Given the description of an element on the screen output the (x, y) to click on. 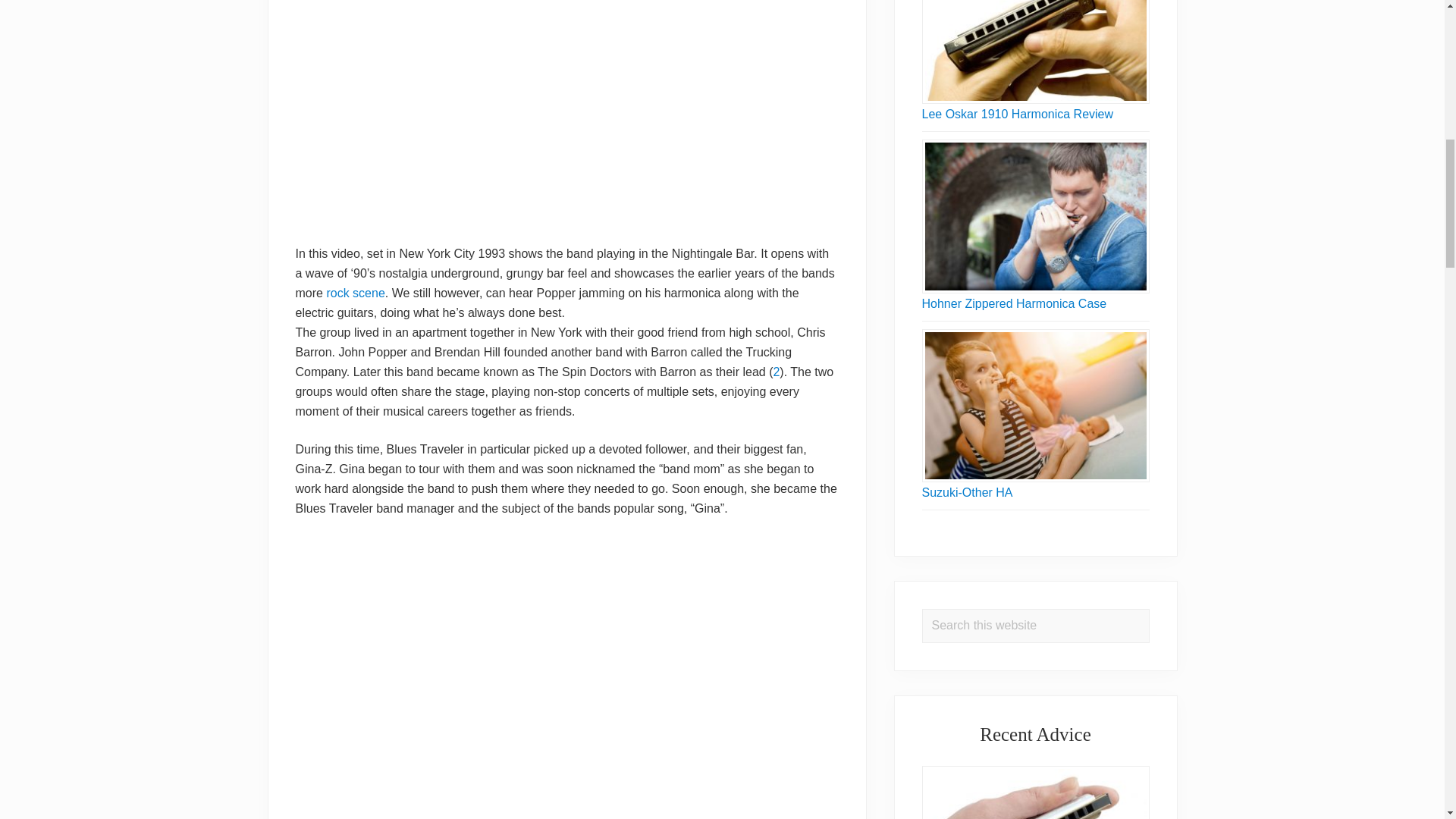
Hohner Zippered Harmonica Case (1013, 303)
Lee Oskar 1910 Harmonica Review (1017, 113)
rock scene (355, 292)
Suzuki-Other HA (967, 492)
